Given the description of an element on the screen output the (x, y) to click on. 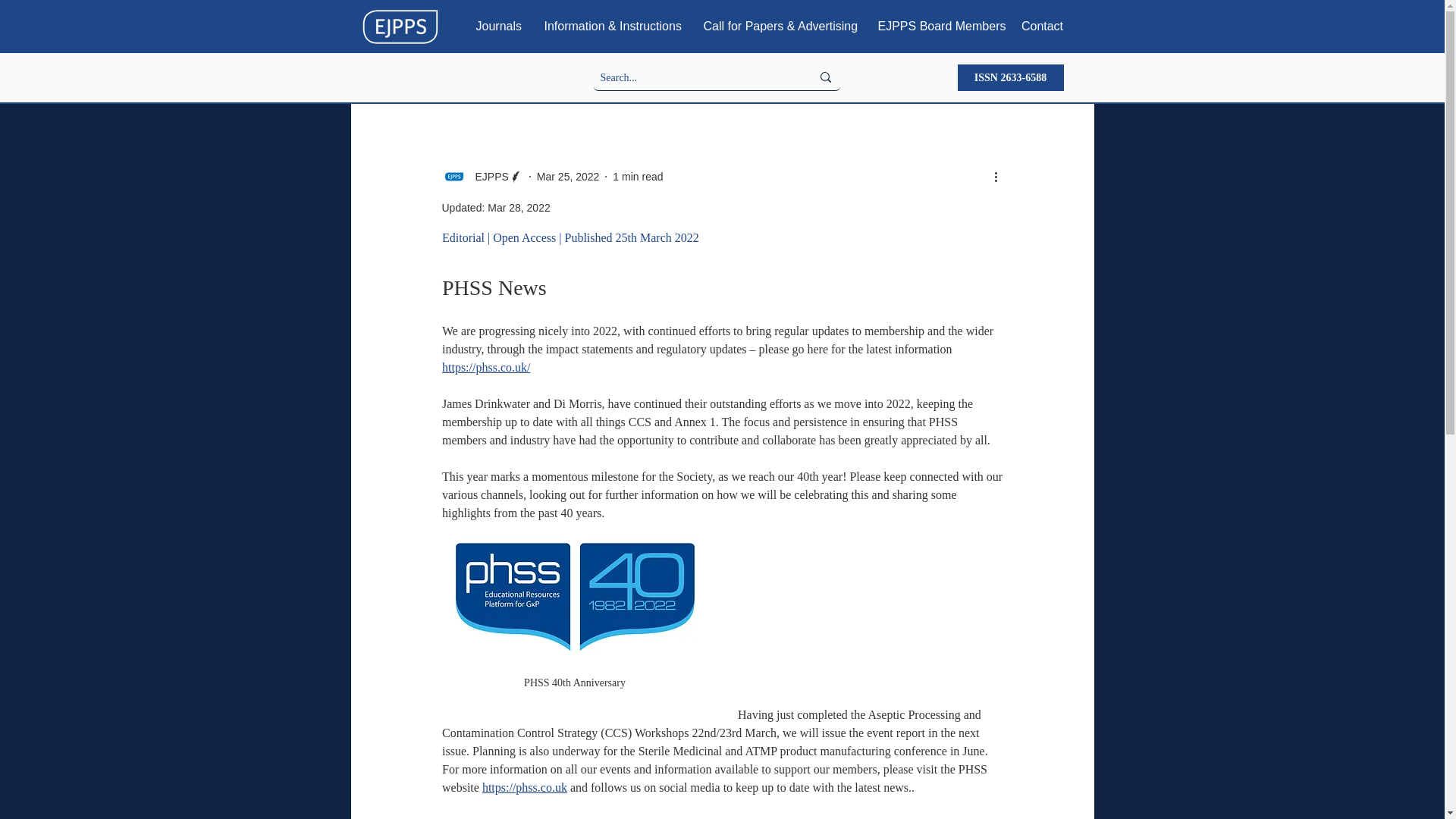
1 min read (637, 175)
Mar 25, 2022 (568, 175)
EJPPS (486, 176)
EJPPS (481, 176)
EJPPS Board Members (937, 26)
ISSN 2633-6588 (1009, 77)
Journals (498, 26)
Mar 28, 2022 (518, 207)
Contact (1042, 26)
